Given the description of an element on the screen output the (x, y) to click on. 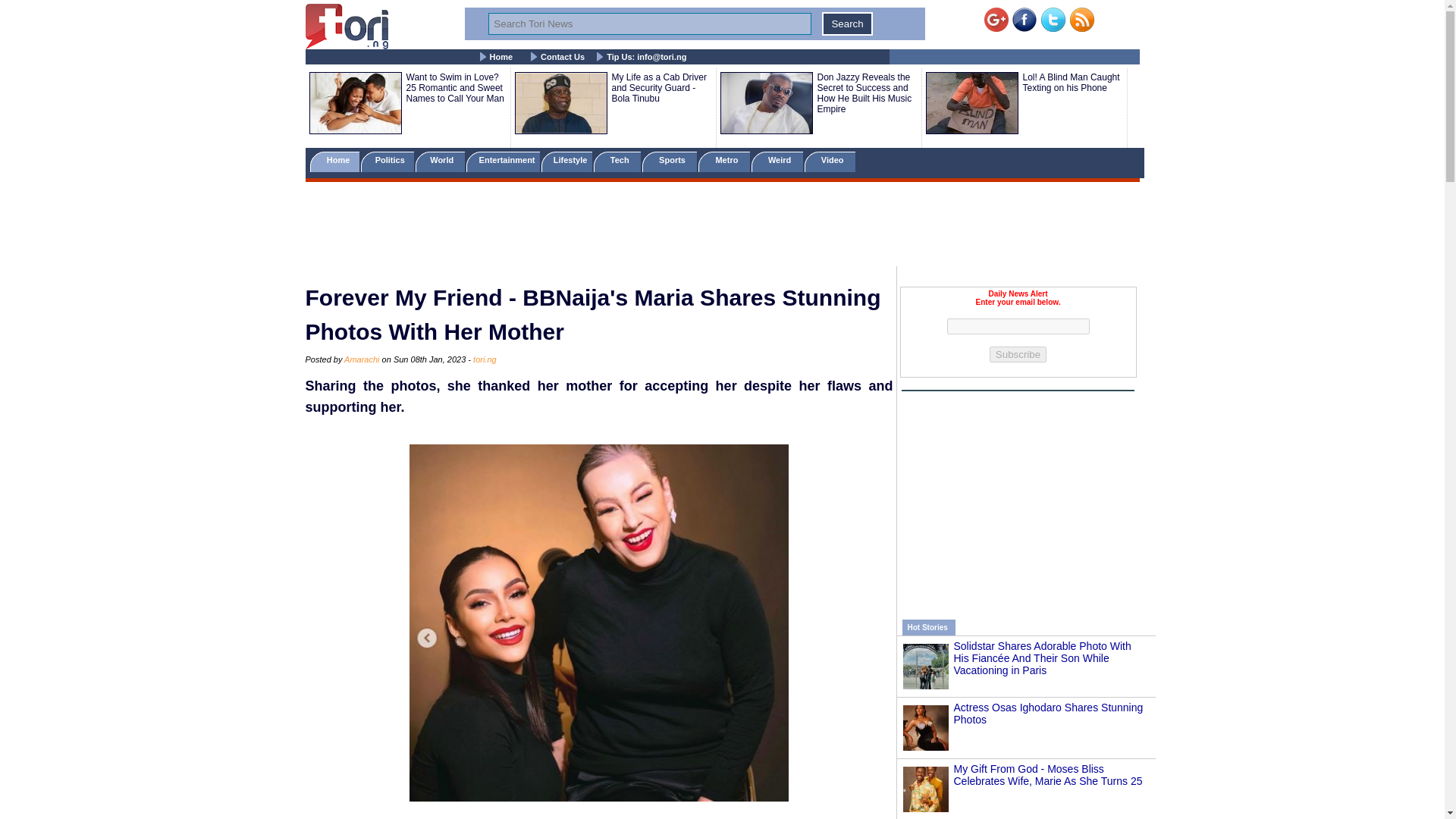
Click To Search (847, 24)
    Tech      (617, 161)
My Life as a Cab Driver and Security Guard - Bola Tinubu (658, 88)
Subscribe (1018, 354)
Search (847, 24)
    Sports      (669, 161)
  Lifestyle   (566, 161)
Actress Osas Ighodaro Shares Stunning Photos (1047, 713)
    Metro      (723, 161)
